Given the description of an element on the screen output the (x, y) to click on. 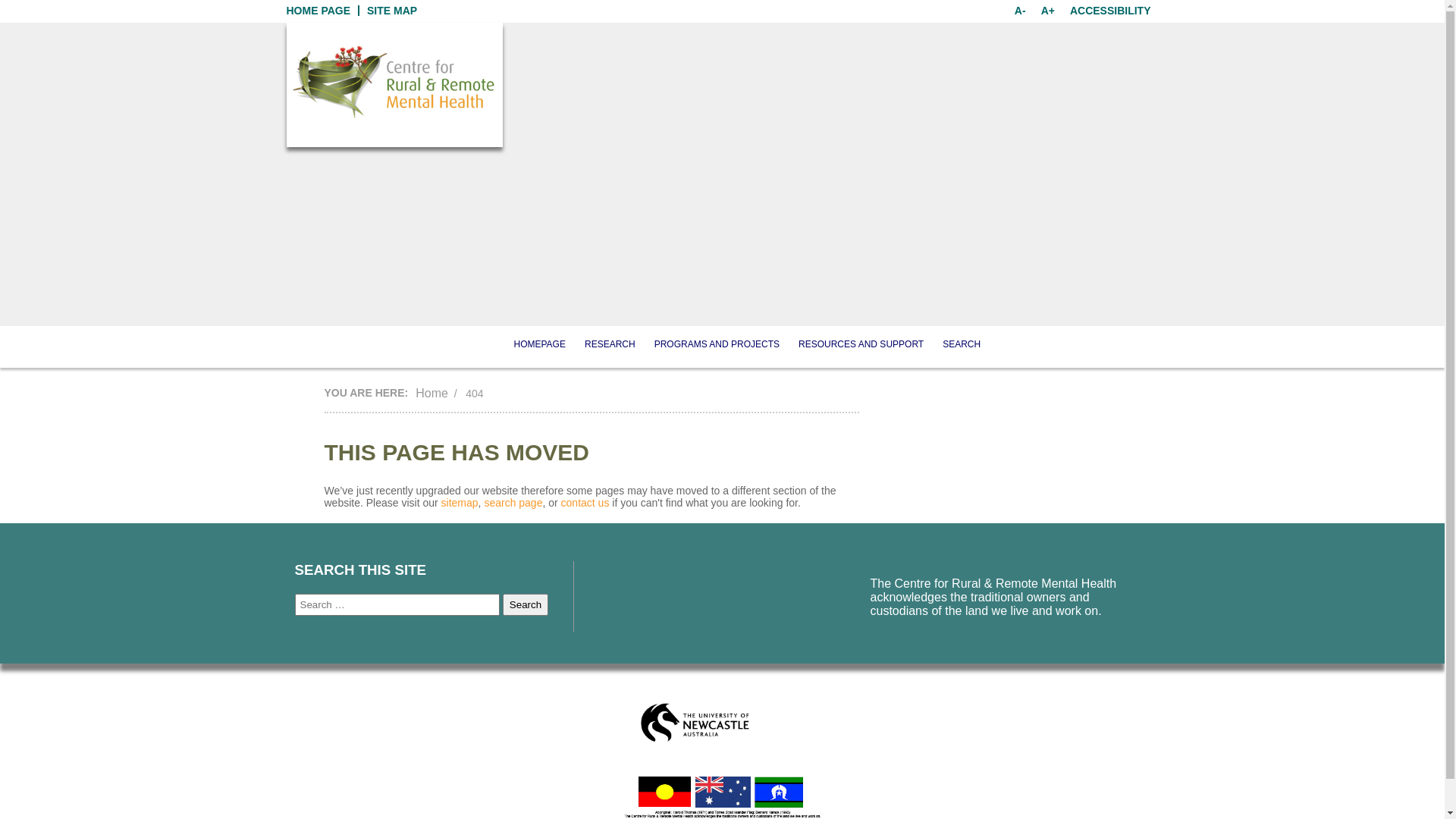
PROGRAMS AND PROJECTS Element type: text (716, 344)
Home Element type: text (431, 392)
SITE MAP Element type: text (392, 10)
search page Element type: text (512, 502)
Centre for Rural and Remote Mental Health Element type: text (393, 81)
University on Newcastle Element type: text (693, 722)
Search Element type: text (525, 604)
HOMEPAGE Element type: text (539, 344)
ACCESSIBILITY Element type: text (1110, 10)
SEARCH Element type: text (961, 344)
A- Element type: text (1020, 10)
contact us Element type: text (585, 502)
sitemap Element type: text (459, 502)
RESEARCH Element type: text (609, 344)
Search for: Element type: hover (396, 604)
HOME PAGE Element type: text (318, 10)
RESOURCES AND SUPPORT Element type: text (860, 344)
A+ Element type: text (1047, 10)
